Given the description of an element on the screen output the (x, y) to click on. 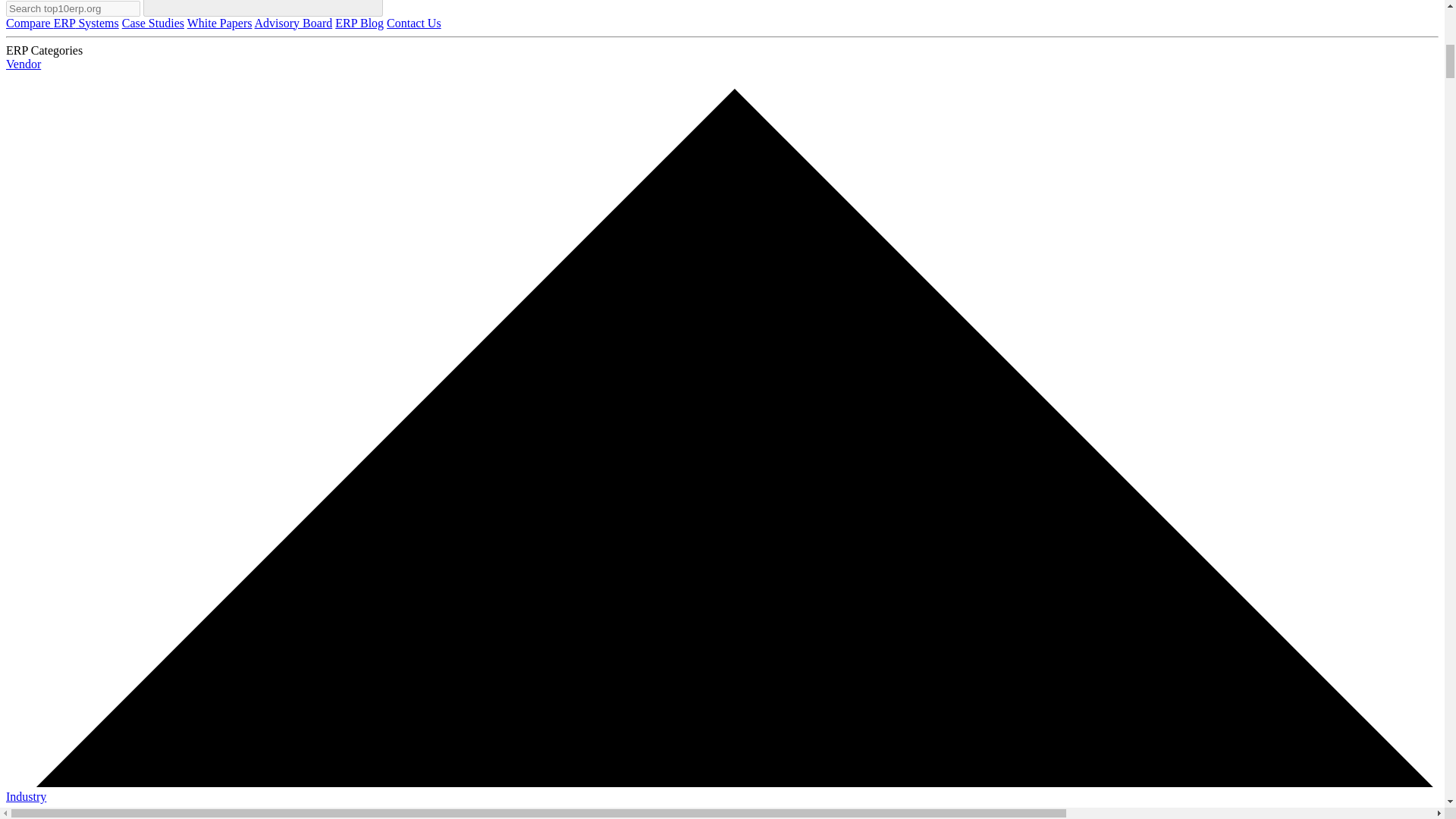
Advisory Board (293, 22)
ERP Blog (359, 22)
Industry (721, 804)
White Papers (219, 22)
Case Studies (153, 22)
Compare ERP Systems (62, 22)
Contact Us (414, 22)
